Given the description of an element on the screen output the (x, y) to click on. 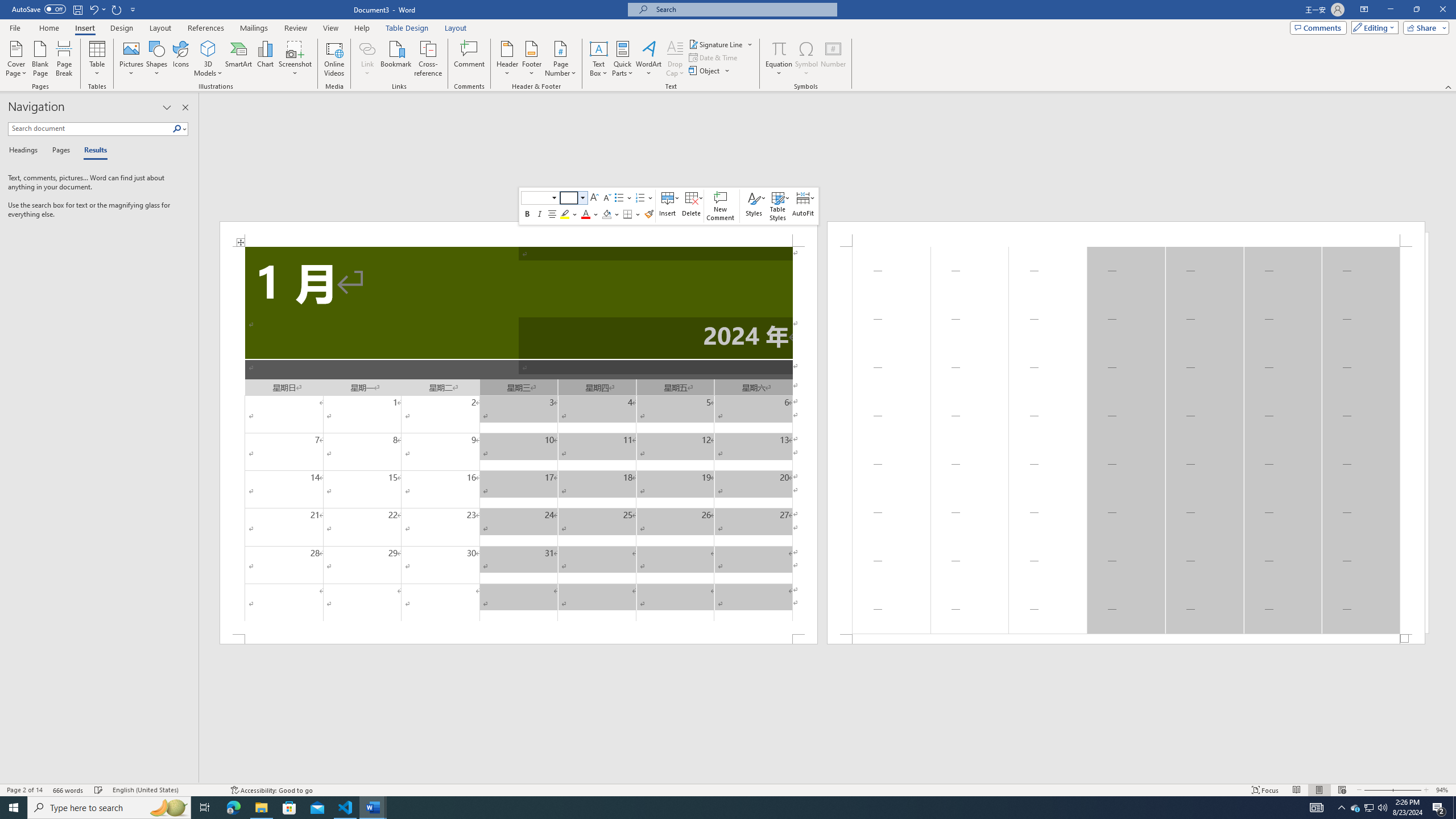
Symbol (806, 58)
Microsoft Store (289, 807)
Undo Apply Quick Style (92, 9)
SmartArt... (238, 58)
Link (367, 48)
Visual Studio Code - 1 running window (345, 807)
